Given the description of an element on the screen output the (x, y) to click on. 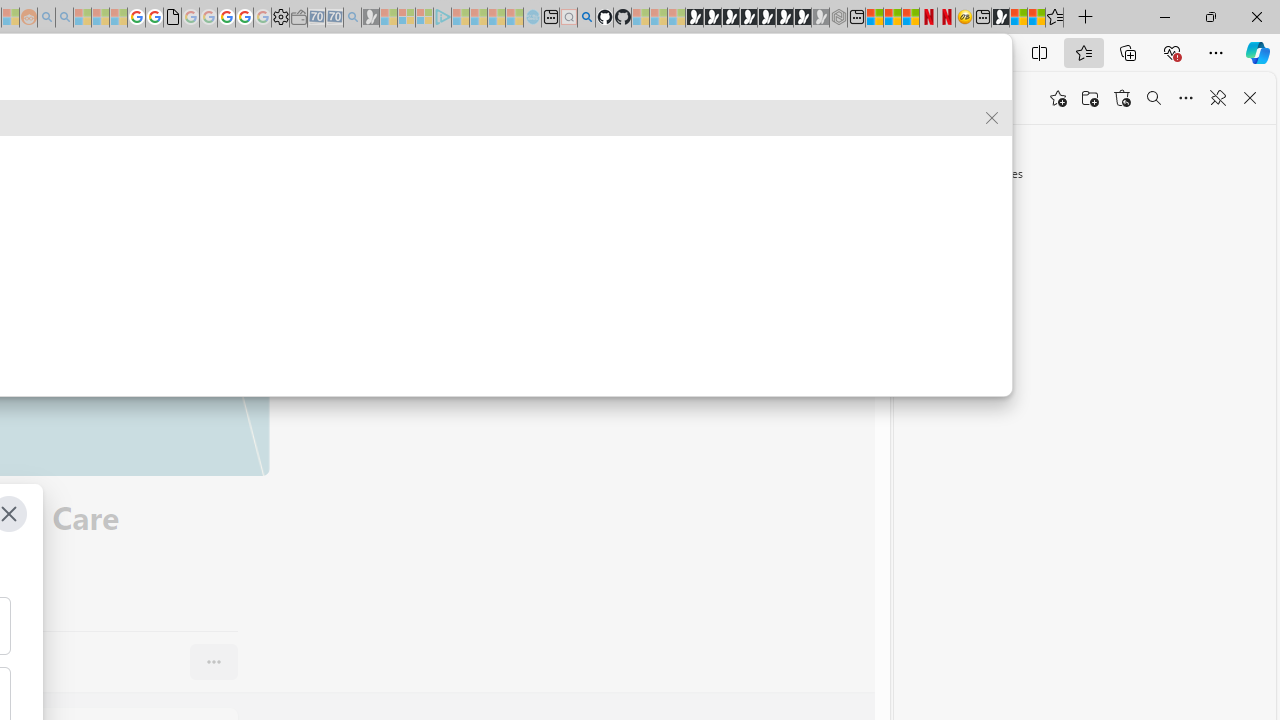
Bing Real Estate - Home sales and rental listings - Sleeping (352, 17)
Microsoft account | Privacy - Sleeping (424, 17)
MSN (1000, 17)
Utah sues federal government - Search - Sleeping (64, 17)
Home | Sky Blue Bikes - Sky Blue Bikes - Sleeping (532, 17)
